Given the description of an element on the screen output the (x, y) to click on. 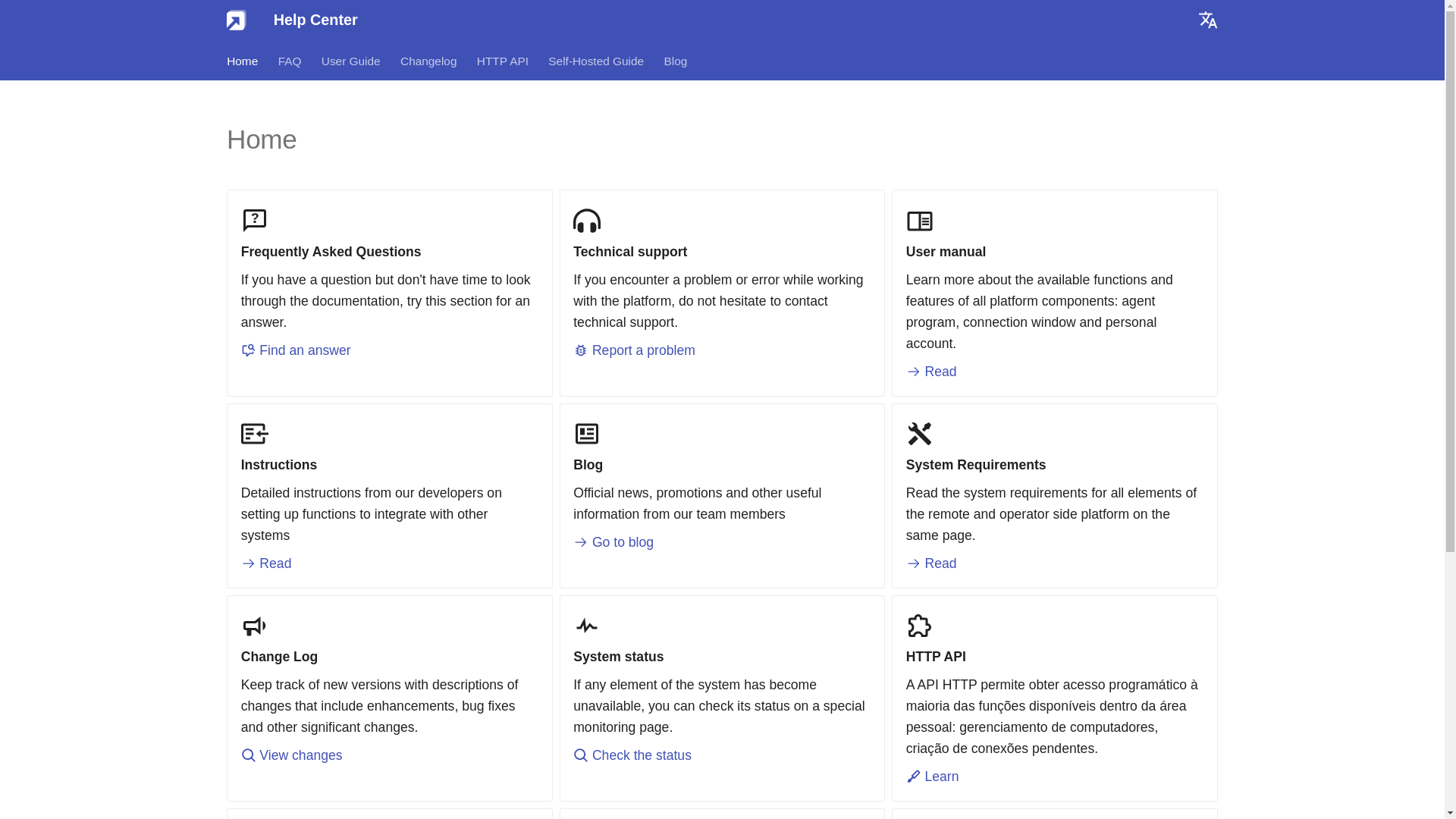
Check the status (632, 754)
Report a problem (634, 350)
Home (242, 60)
Blog (675, 60)
Help Center (236, 19)
Go to blog (613, 541)
Learn (932, 776)
FAQ (289, 60)
HTTP API (502, 60)
View changes (291, 754)
Find an answer (295, 350)
Changelog (428, 60)
Read (930, 563)
User Guide (350, 60)
Self-Hosted Guide (595, 60)
